Given the description of an element on the screen output the (x, y) to click on. 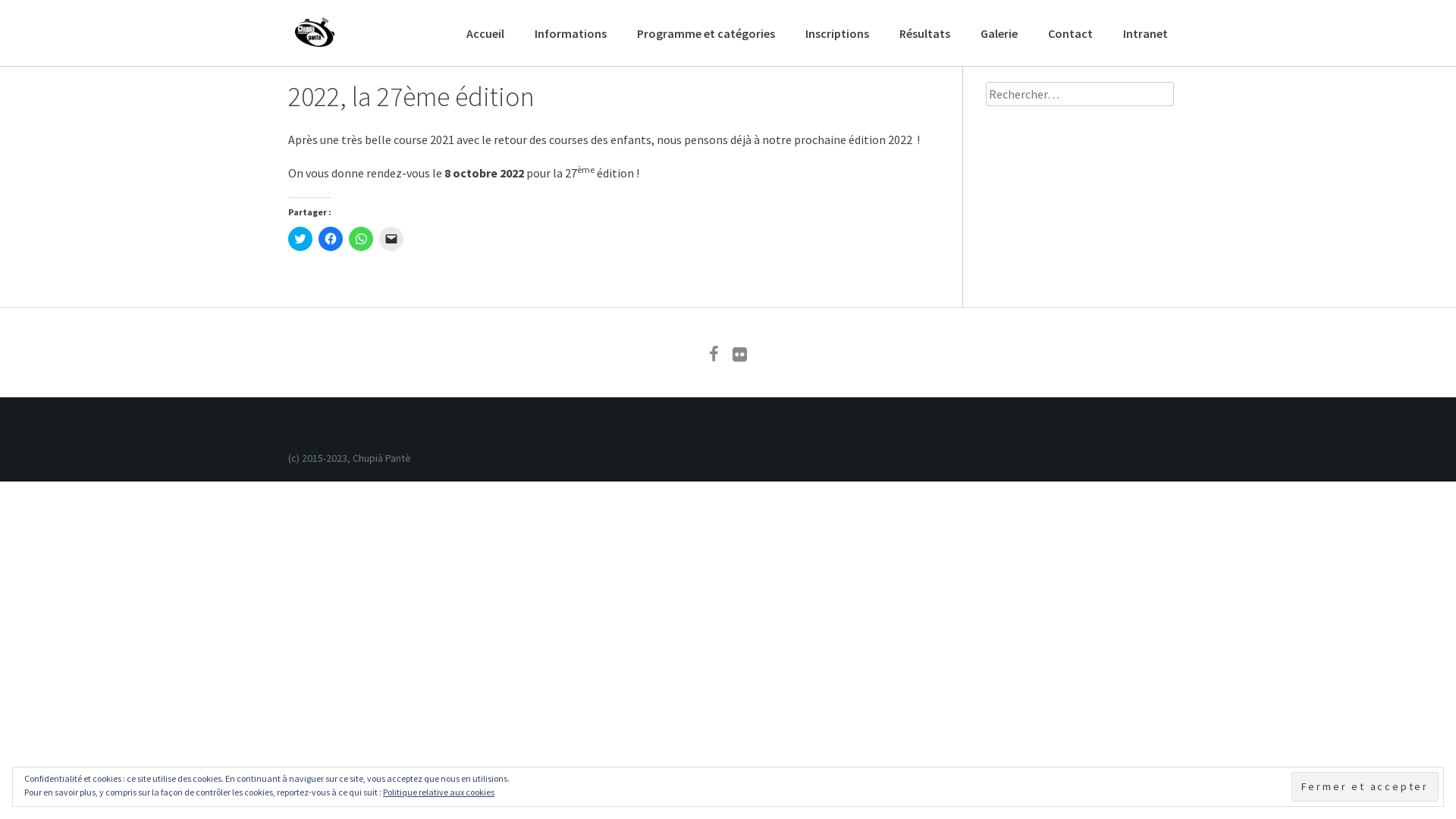
Contact Element type: text (1069, 33)
Fermer et accepter Element type: text (1364, 786)
Politique relative aux cookies Element type: text (438, 791)
Accueil Element type: text (485, 33)
Inscriptions Element type: text (837, 33)
Rechercher Element type: text (60, 15)
Galerie Element type: text (998, 33)
Informations Element type: text (570, 33)
Intranet Element type: text (1145, 33)
